Given the description of an element on the screen output the (x, y) to click on. 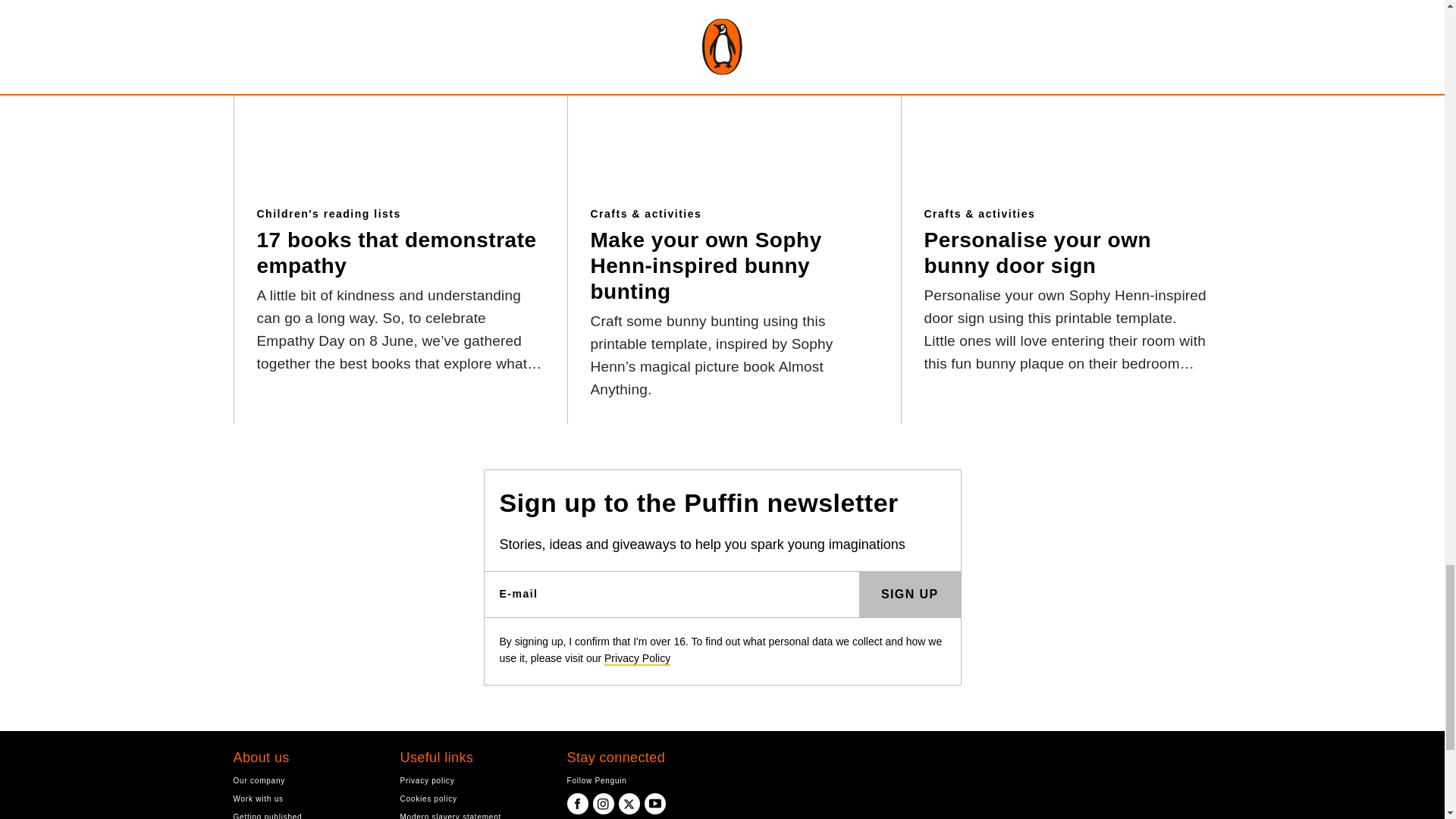
Our company (304, 780)
Privacy Policy (636, 657)
Modern slavery statement (472, 814)
Cookies policy (472, 798)
Privacy policy (472, 780)
Work with us (304, 798)
Getting published (304, 814)
SIGN UP (909, 594)
